Given the description of an element on the screen output the (x, y) to click on. 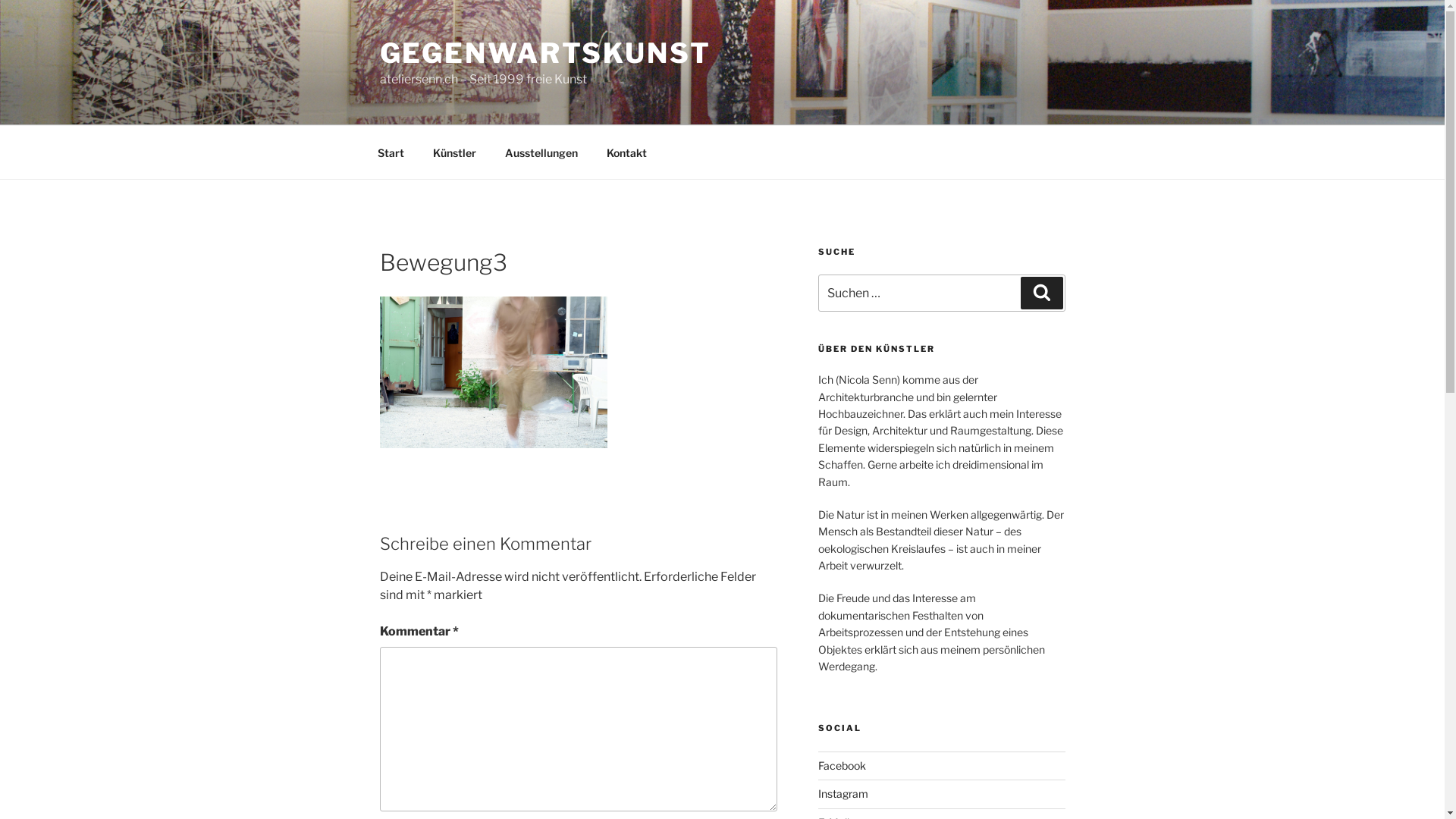
Ausstellungen Element type: text (540, 151)
Facebook Element type: text (842, 765)
GEGENWARTSKUNST Element type: text (544, 52)
Start Element type: text (390, 151)
Instagram Element type: text (843, 793)
Kontakt Element type: text (626, 151)
Suchen Element type: text (1041, 292)
